Given the description of an element on the screen output the (x, y) to click on. 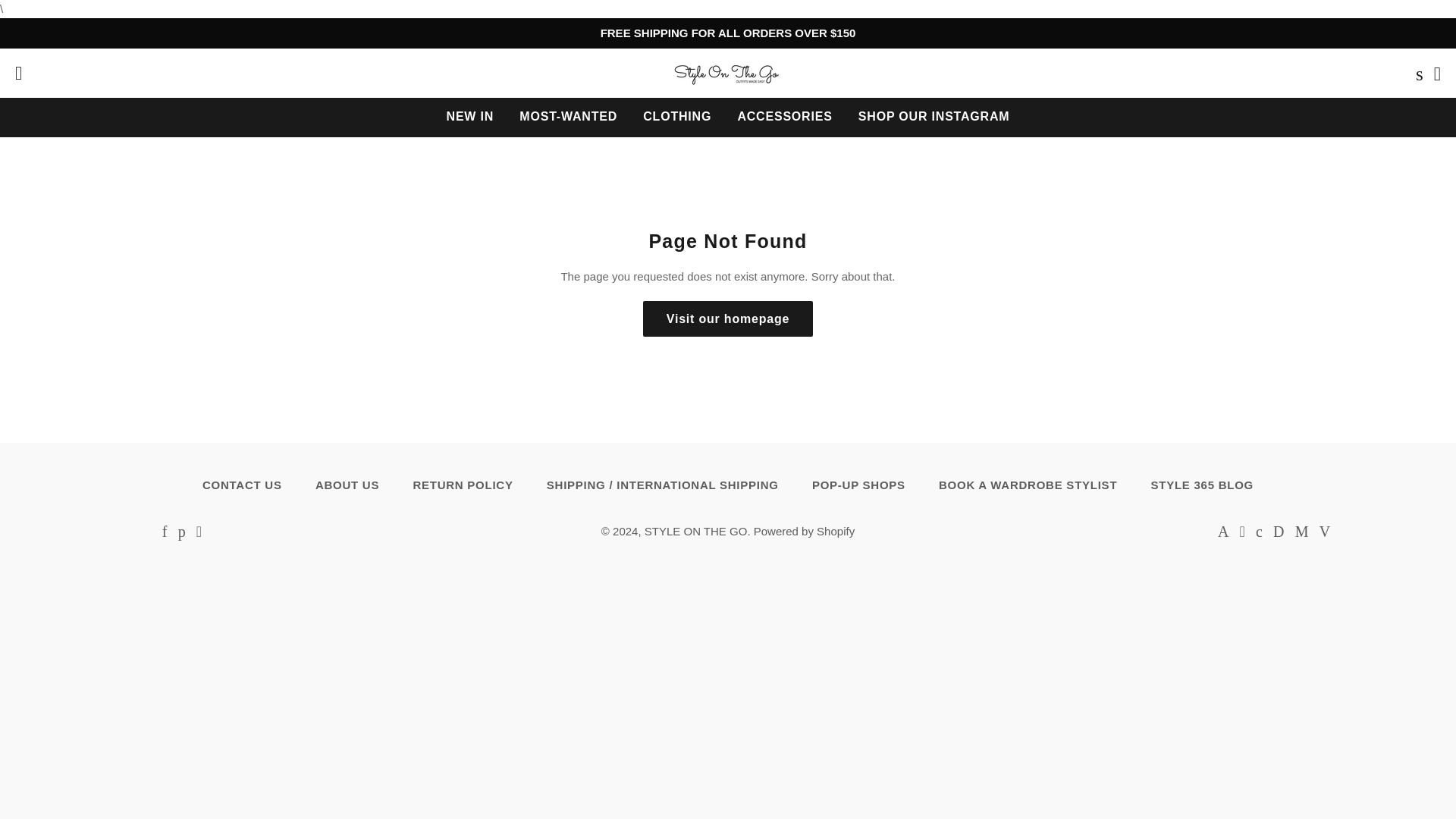
NEW IN (470, 116)
CLOTHING (676, 116)
MOST-WANTED (568, 116)
